Given the description of an element on the screen output the (x, y) to click on. 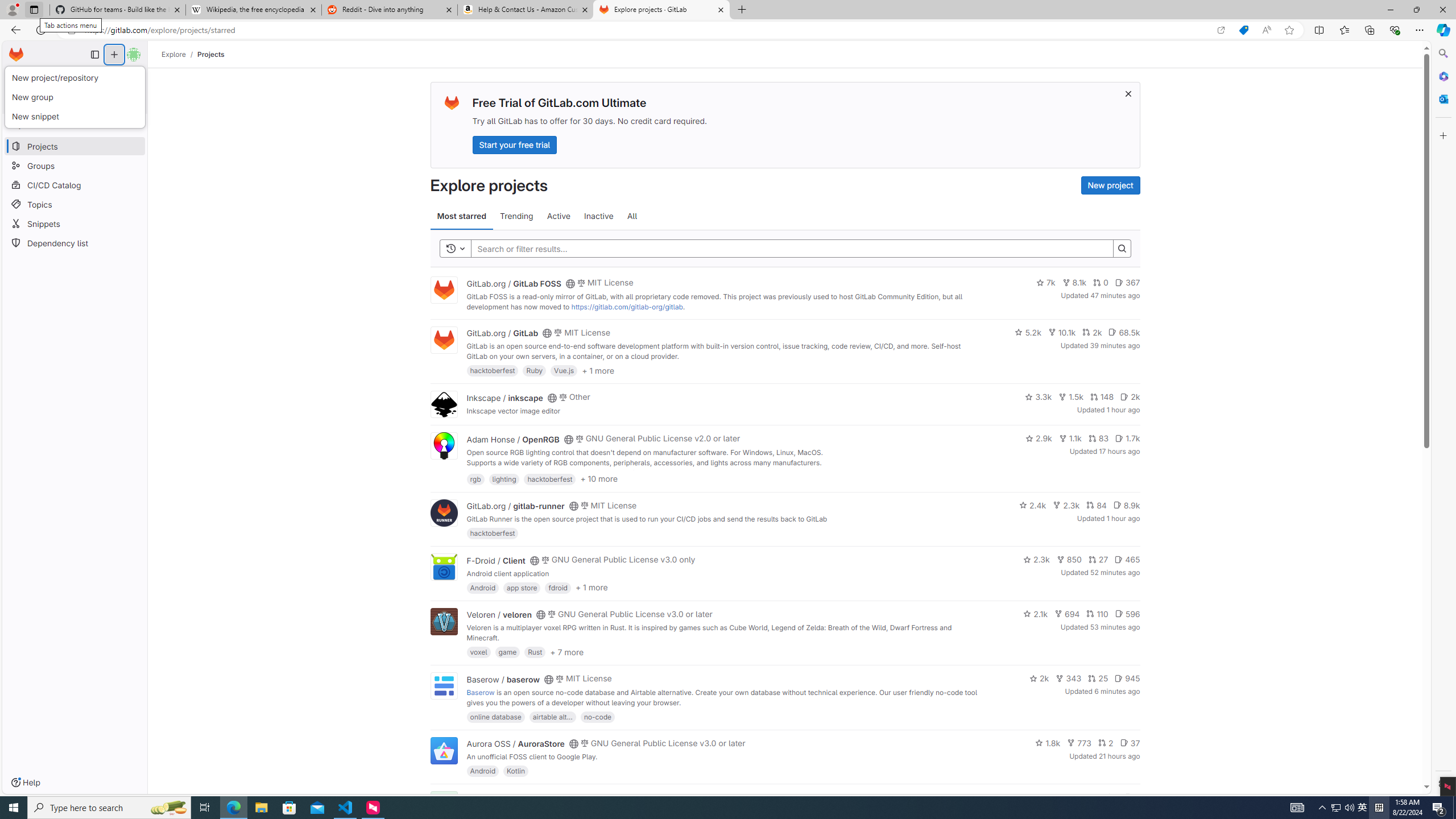
+ 10 more (599, 478)
25 (1097, 678)
1.5k (1070, 396)
New project (1110, 185)
Start your free trial (514, 144)
Baserow / baserow (502, 678)
Aurora OSS / AuroraStore (514, 743)
6 (1132, 797)
